Given the description of an element on the screen output the (x, y) to click on. 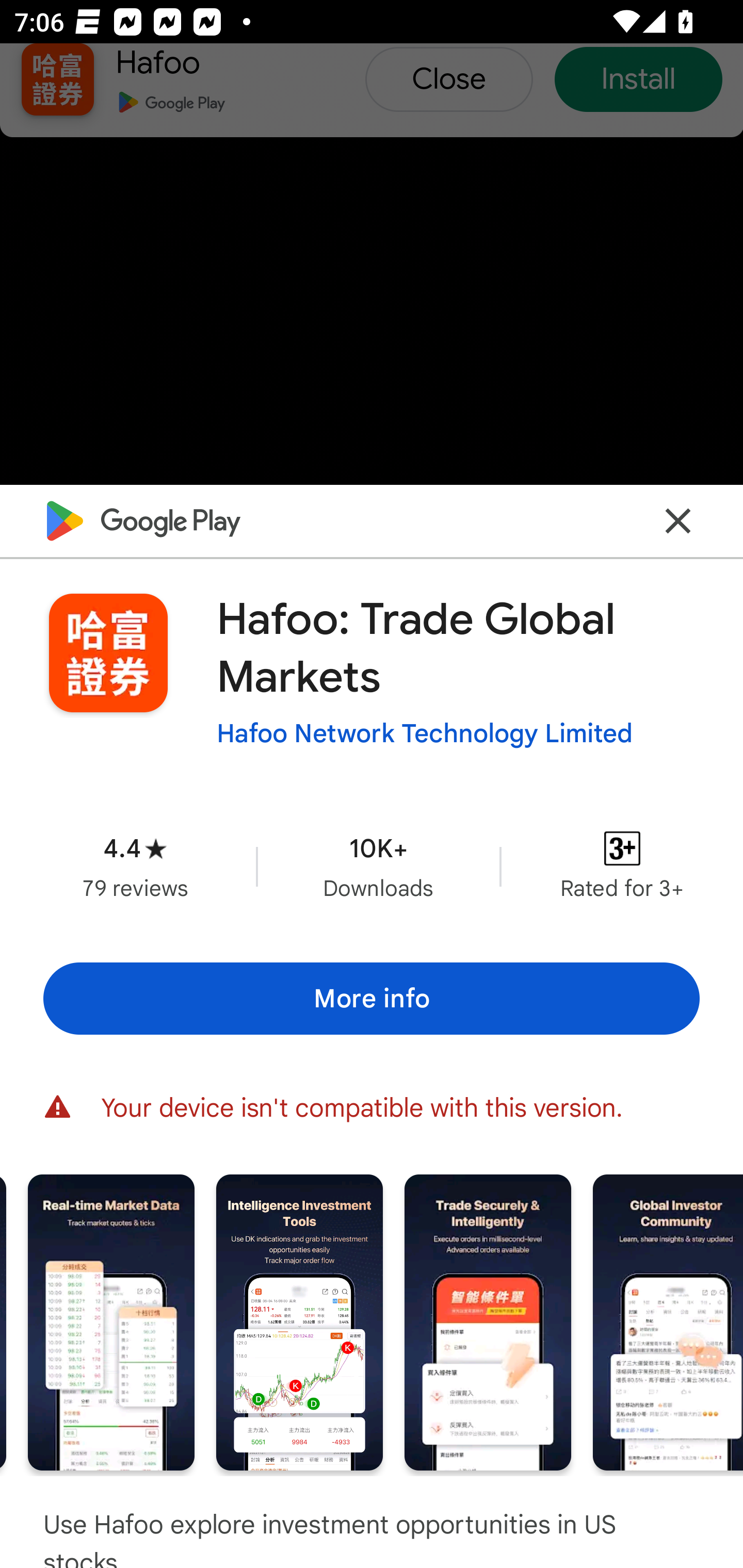
Close (677, 520)
Hafoo Network Technology Limited (424, 732)
More info (371, 998)
Screenshot "4" of "8" (111, 1322)
Screenshot "5" of "8" (299, 1322)
Screenshot "6" of "8" (487, 1322)
Screenshot "7" of "8" (667, 1322)
